Given the description of an element on the screen output the (x, y) to click on. 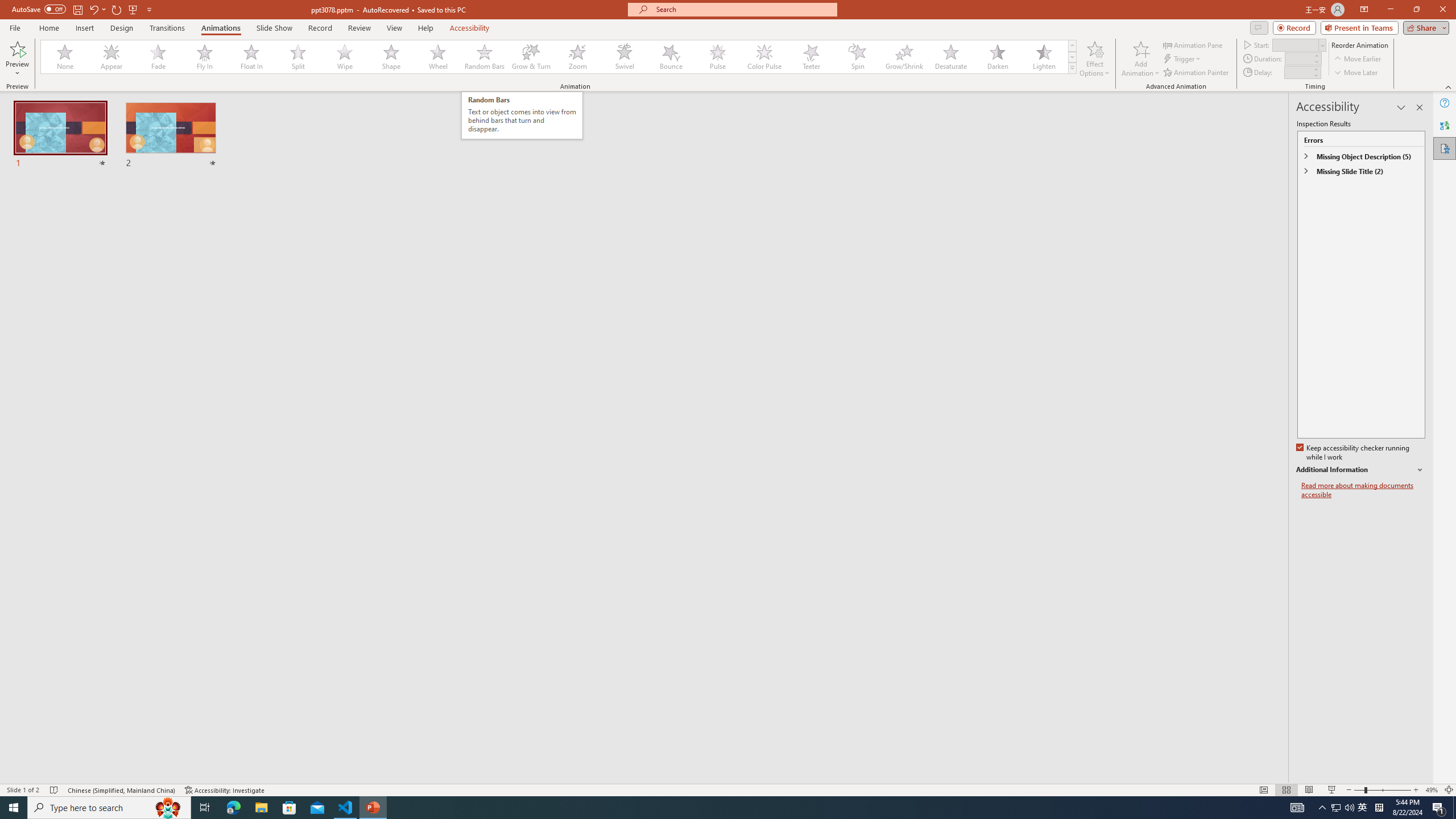
Darken (997, 56)
Swivel (624, 56)
AutomationID: AnimationGallery (558, 56)
Grow/Shrink (903, 56)
Spin (857, 56)
